Given the description of an element on the screen output the (x, y) to click on. 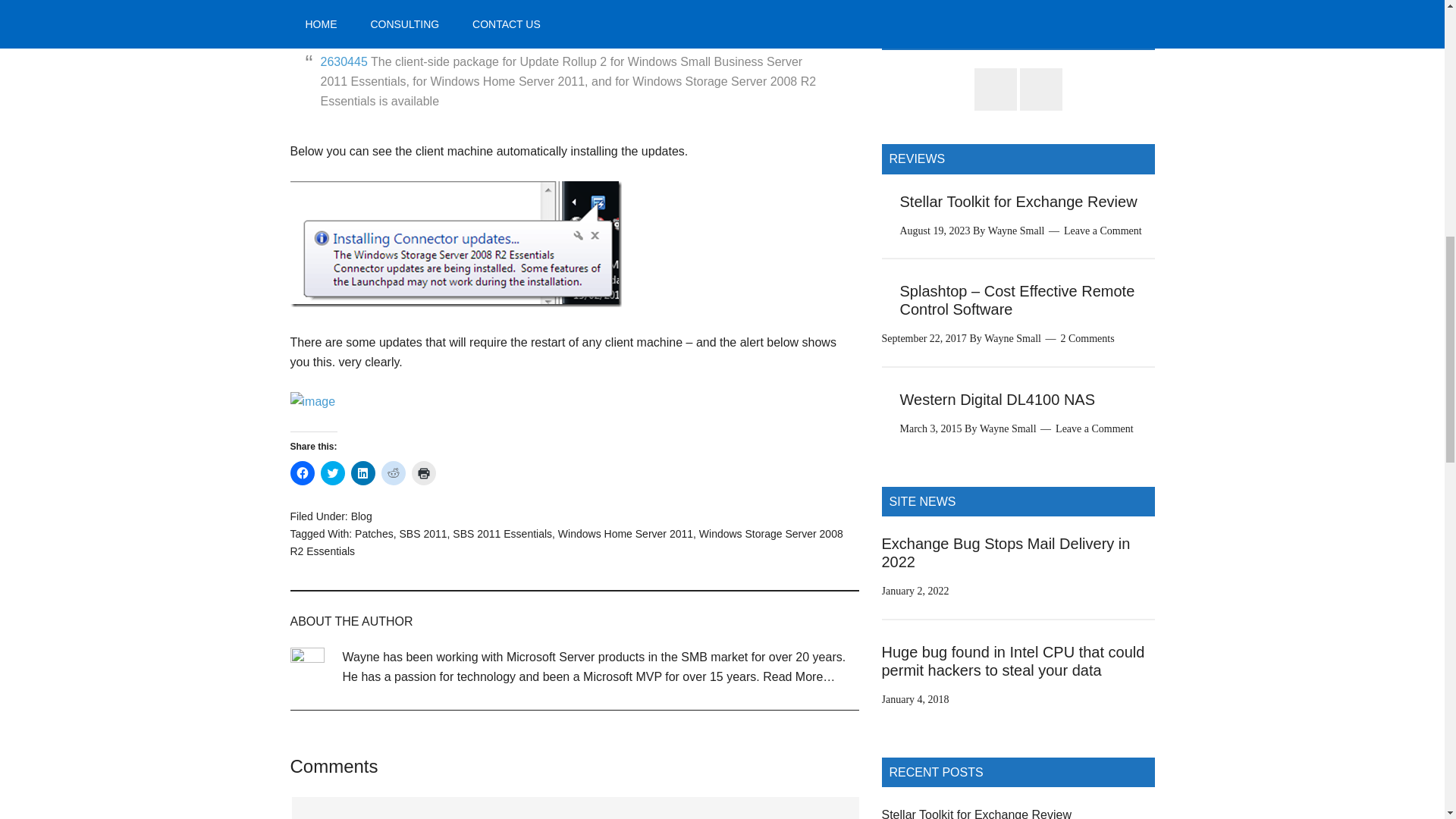
Click to share on Facebook (301, 473)
Patches (374, 533)
SBS 2011 Essentials (501, 533)
SBS 2011 (422, 533)
Click to share on Twitter (331, 473)
Click to share on LinkedIn (362, 473)
Click to share on Reddit (392, 473)
Windows Home Server 2011 (625, 533)
Blog (361, 516)
image (455, 243)
image (311, 401)
Windows Storage Server 2008 R2 Essentials (566, 542)
Click to print (422, 473)
2630445 (343, 61)
